Given the description of an element on the screen output the (x, y) to click on. 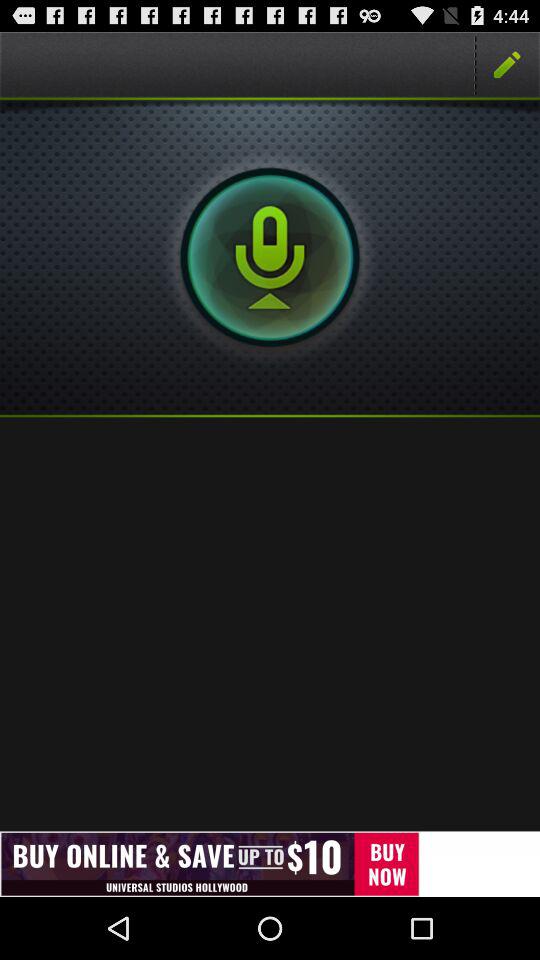
toggle start record (270, 257)
